Given the description of an element on the screen output the (x, y) to click on. 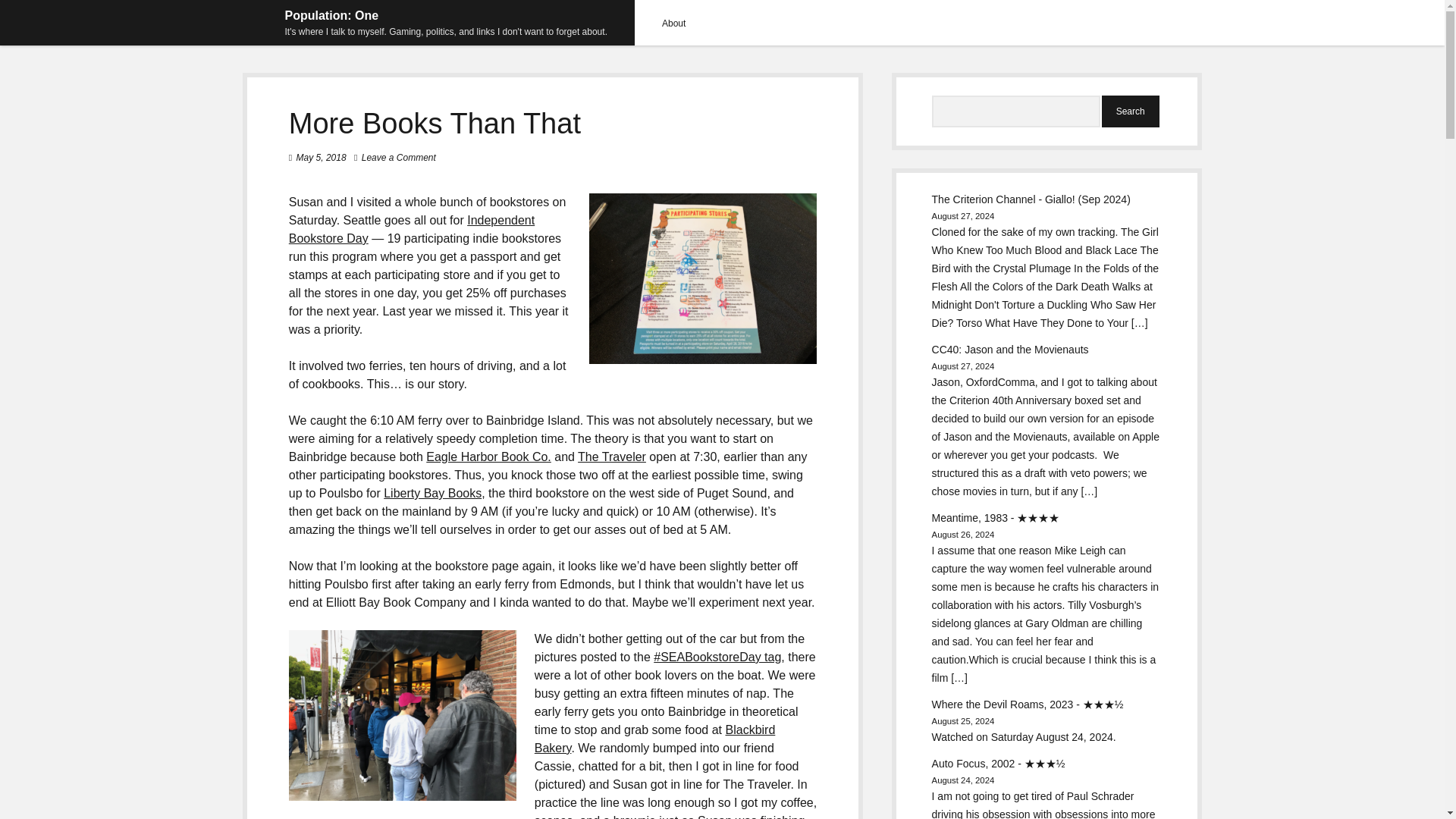
Leave a Comment (398, 157)
About (673, 23)
Liberty Bay Books (432, 492)
Blackbird Bakery (655, 738)
Independent Bookstore Day (411, 228)
Search (1130, 111)
Population: One (331, 15)
Eagle Harbor Book Co. (488, 456)
Search (1130, 111)
May 5, 2018 (321, 157)
